Given the description of an element on the screen output the (x, y) to click on. 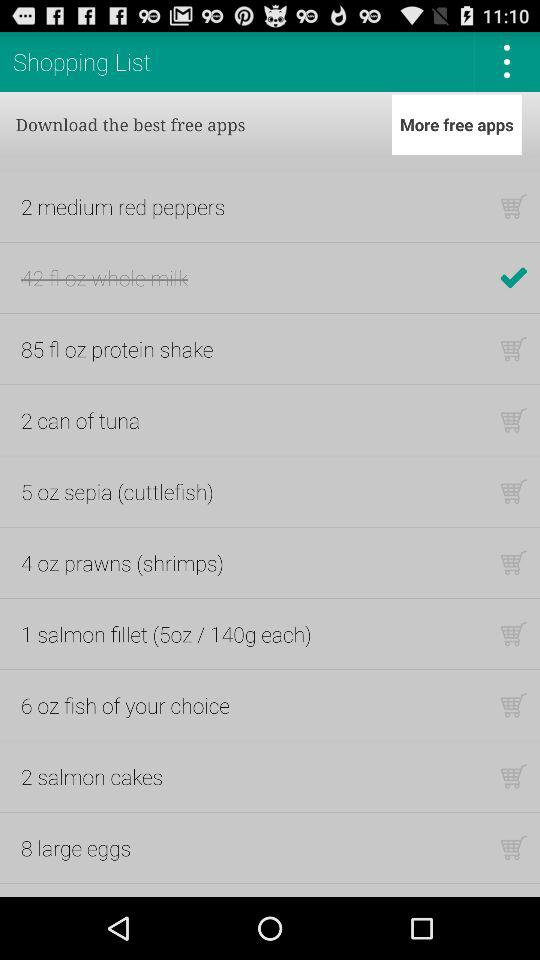
launch 2 medium red (123, 206)
